Given the description of an element on the screen output the (x, y) to click on. 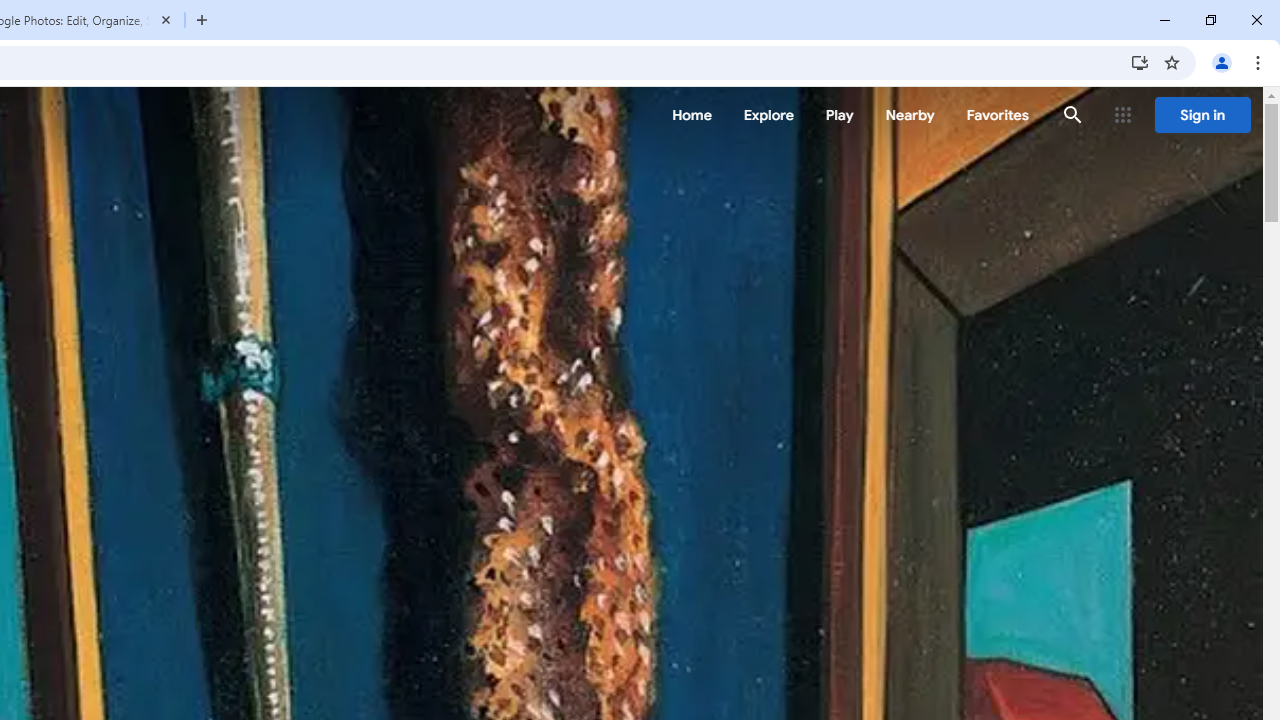
Sign in (1202, 115)
Home (691, 115)
Search (1072, 114)
Explore (768, 115)
Chrome (1260, 62)
Favorites (996, 115)
You (1221, 62)
Close (166, 19)
Restore (1210, 20)
Bookmark this tab (1171, 62)
Play (840, 115)
Google apps (1123, 115)
New Tab (202, 20)
Minimize (1165, 20)
